Given the description of an element on the screen output the (x, y) to click on. 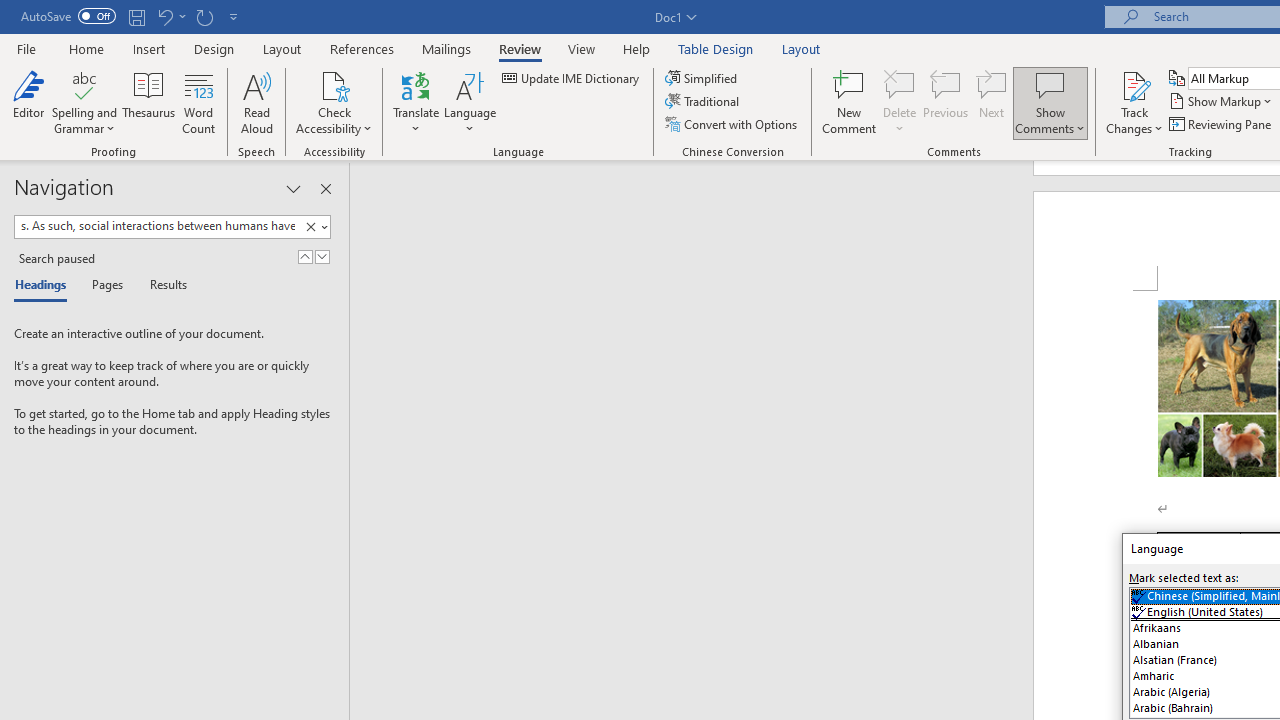
Traditional (703, 101)
Spelling and Grammar (84, 102)
Show Markup (1222, 101)
Simplified (702, 78)
Clear (310, 227)
Clear (314, 227)
Previous (946, 102)
